Given the description of an element on the screen output the (x, y) to click on. 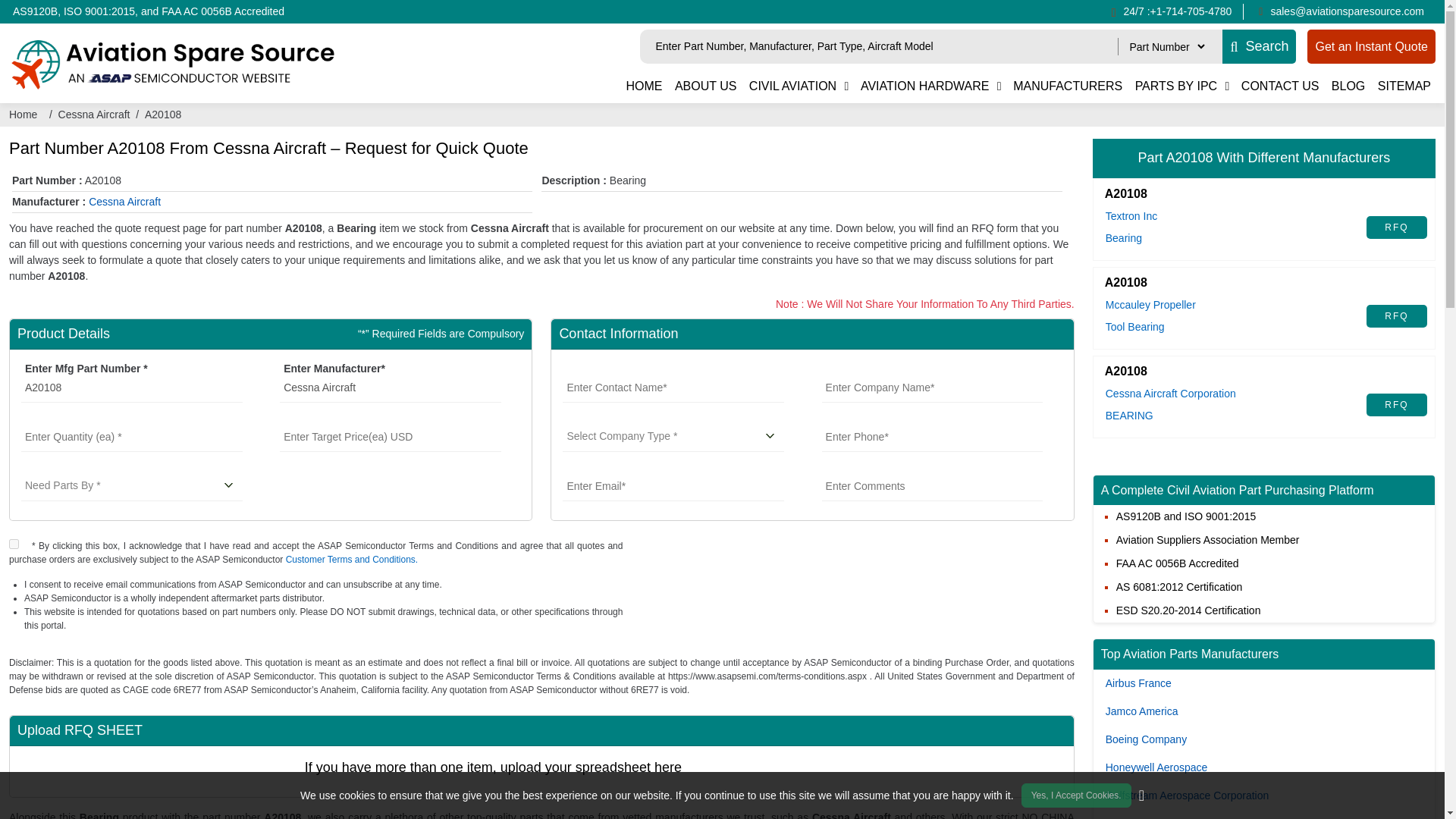
Customer Terms and Conditions. (352, 559)
Upload file (1013, 771)
BLOG (1348, 86)
SITEMAP (1404, 86)
A20108 (132, 387)
on (13, 543)
PARTS BY IPC (1176, 86)
  SUBMIT (962, 552)
ABOUT US (705, 86)
Cessna Aircraft (94, 114)
HOME (643, 86)
CIVIL AVIATION (792, 86)
Search (1259, 46)
Cessna Aircraft (389, 387)
MANUFACTURERS (1067, 86)
